Given the description of an element on the screen output the (x, y) to click on. 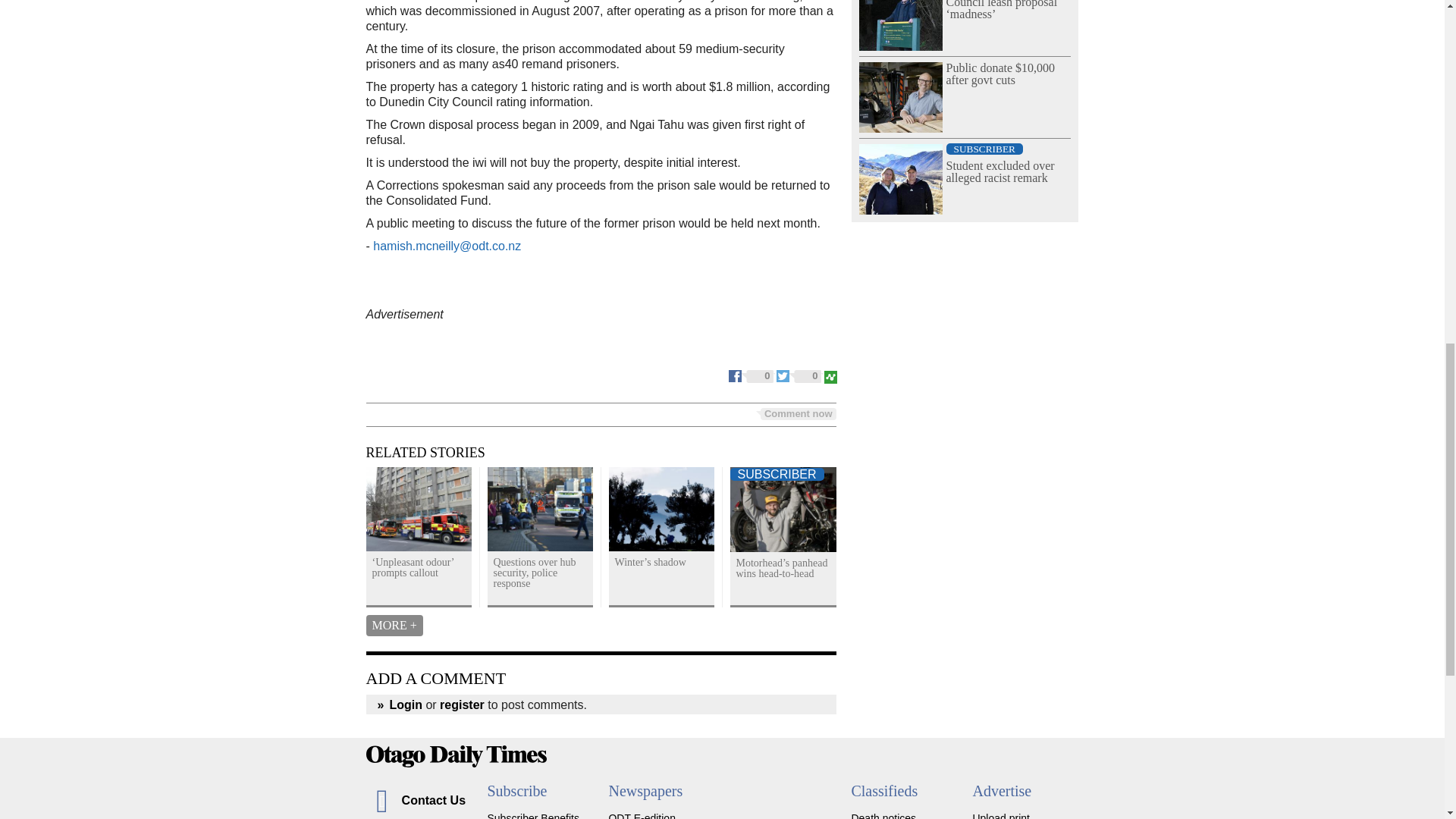
Facebook (752, 374)
Get the ODT delivered right to you! (532, 815)
ShareThis (829, 374)
Home (721, 756)
Twitter (800, 374)
